Given the description of an element on the screen output the (x, y) to click on. 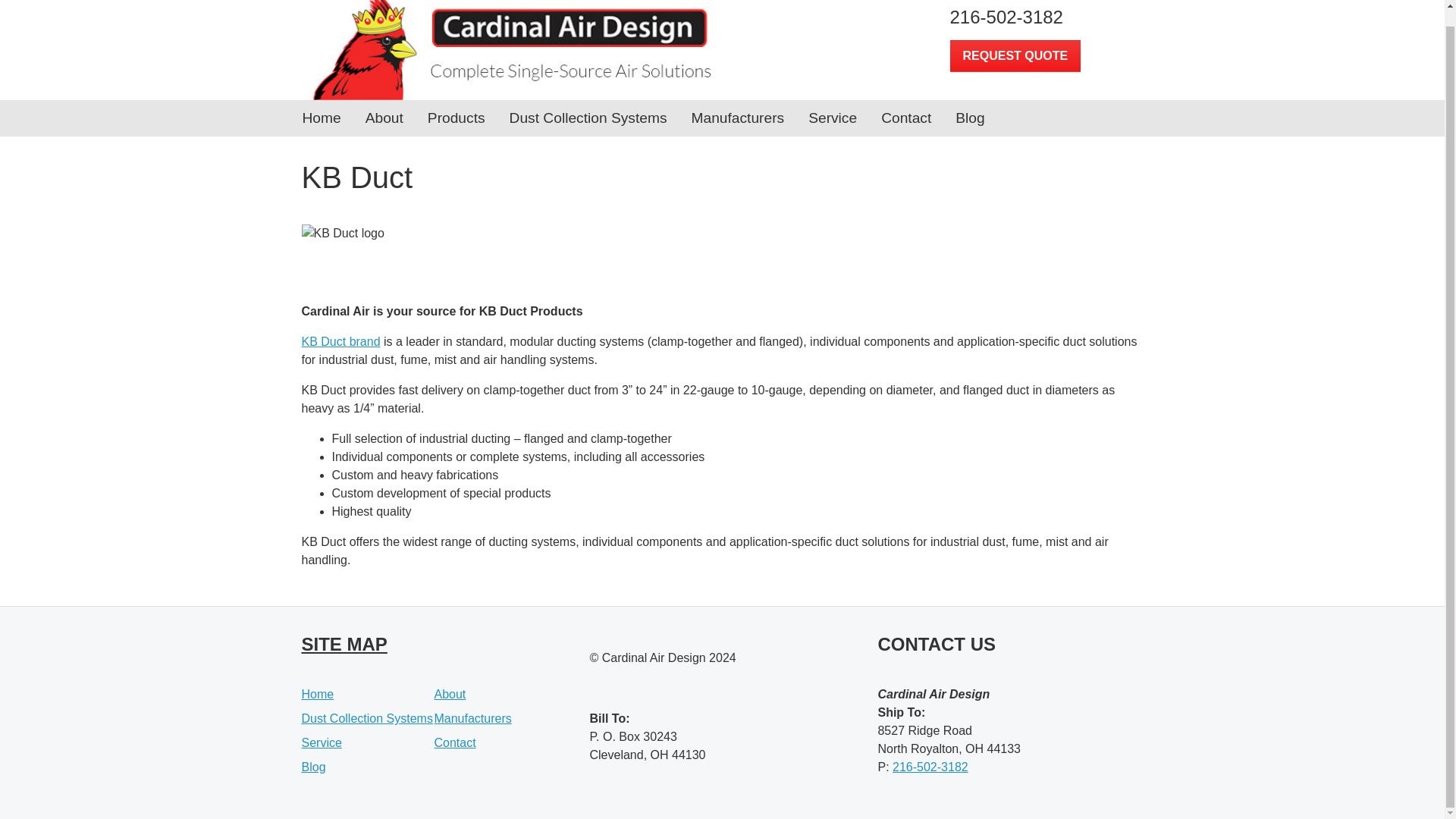
About (449, 694)
Products (456, 117)
Home (320, 117)
About (384, 117)
Dust Collection Systems (587, 117)
Manufacturers (737, 117)
Home (317, 694)
Cardinal Air - Complete Single-Source Air Solutions (506, 49)
KB Duct brand (340, 341)
SITE MAP (344, 643)
